Given the description of an element on the screen output the (x, y) to click on. 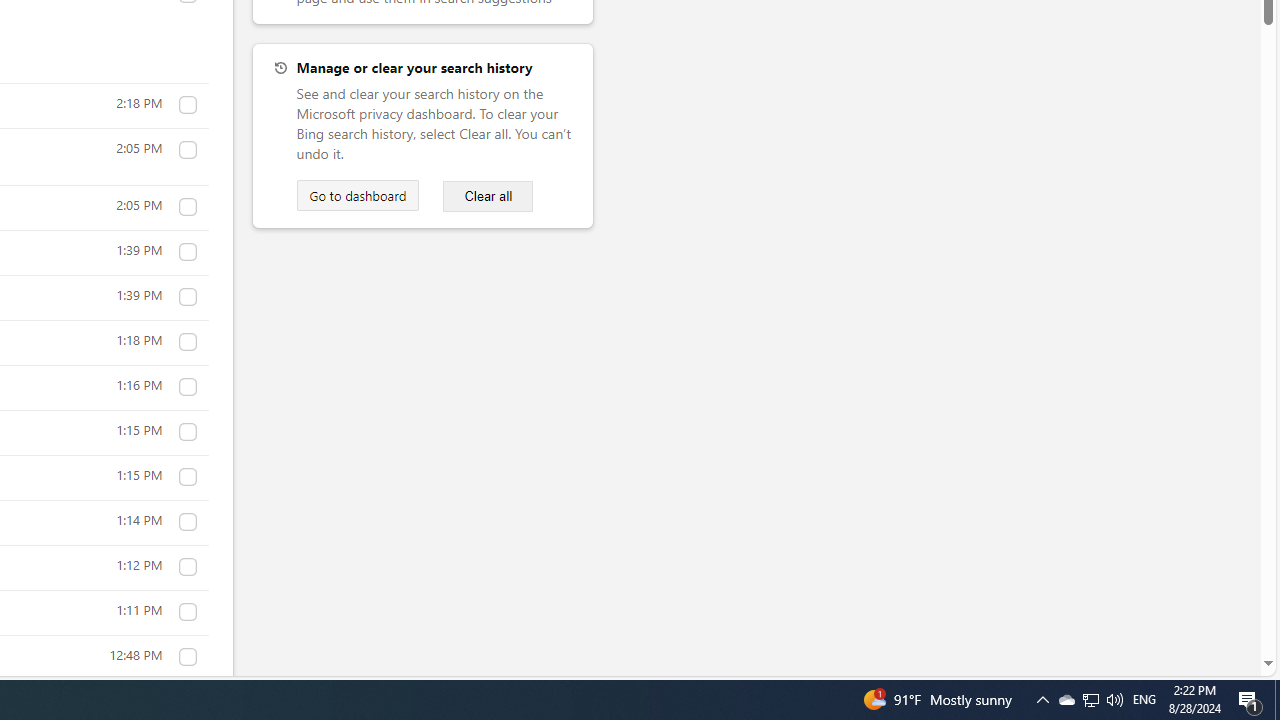
Amazon Echo Dot Colors (187, 477)
Amazon Echo Dot PNG (187, 341)
github (187, 104)
Collectibles & Fine Art | Sports | Jerseys (187, 657)
Go to dashboard (357, 195)
poe (187, 207)
amazon echo dot accessories (187, 387)
amazon (187, 567)
Clear your search history (487, 195)
Newest Amazon Echo Dot (187, 431)
Amazon Echo Robot (187, 521)
poe ++ standard (187, 150)
World tourist attraction (187, 611)
